Given the description of an element on the screen output the (x, y) to click on. 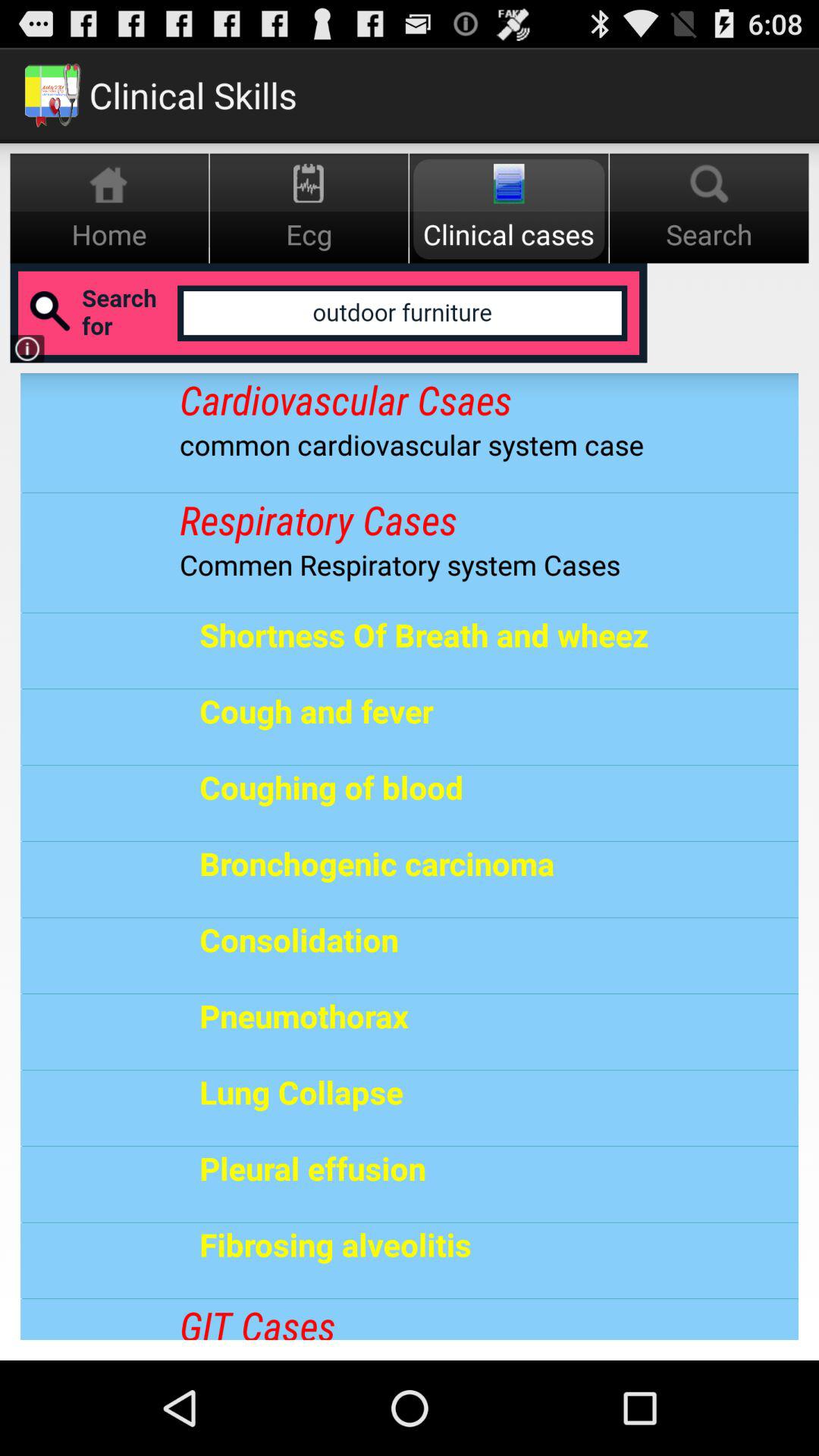
select the text and image left to ecg (109, 208)
